Given the description of an element on the screen output the (x, y) to click on. 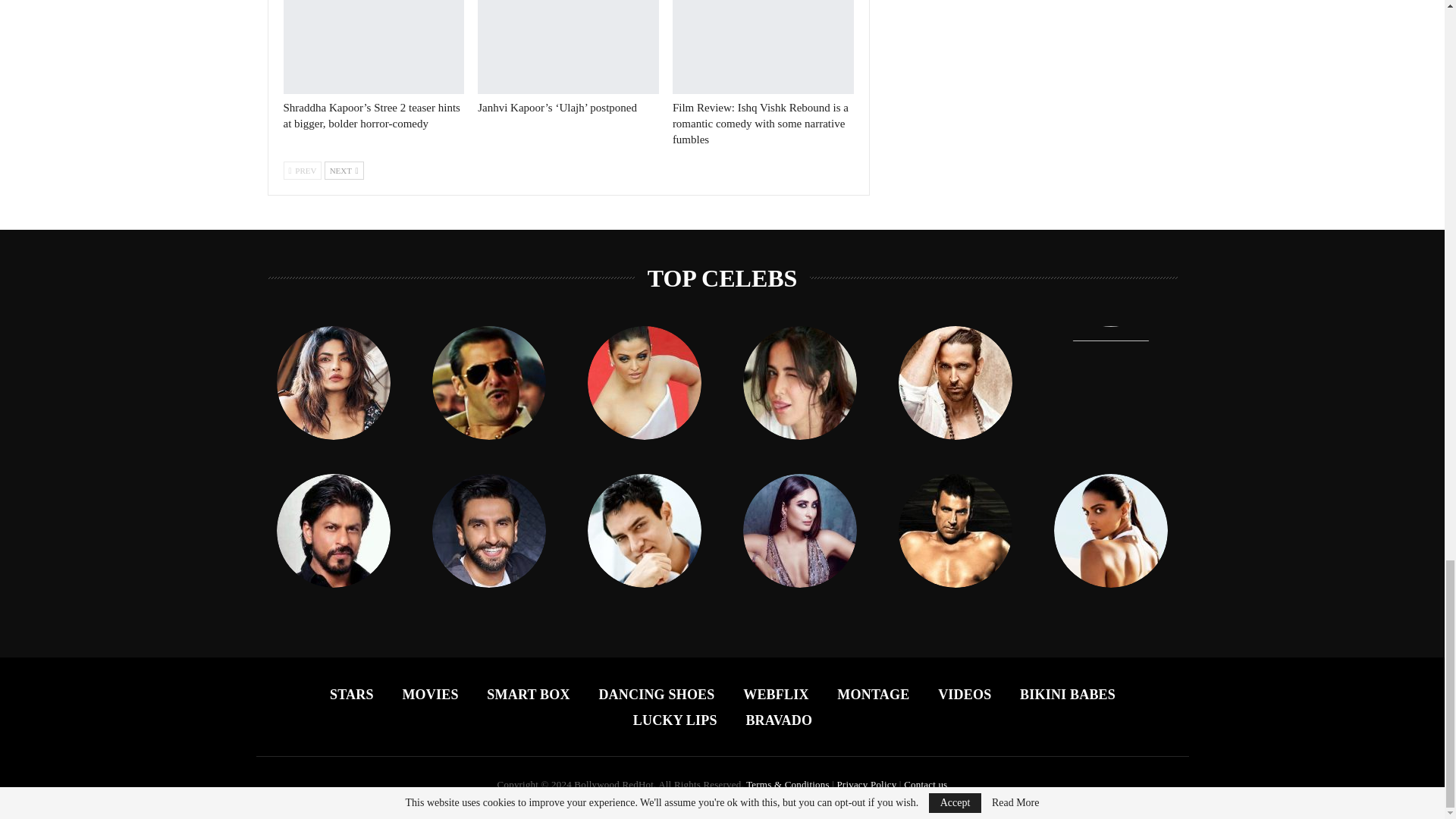
Next (344, 170)
Previous (302, 170)
